Given the description of an element on the screen output the (x, y) to click on. 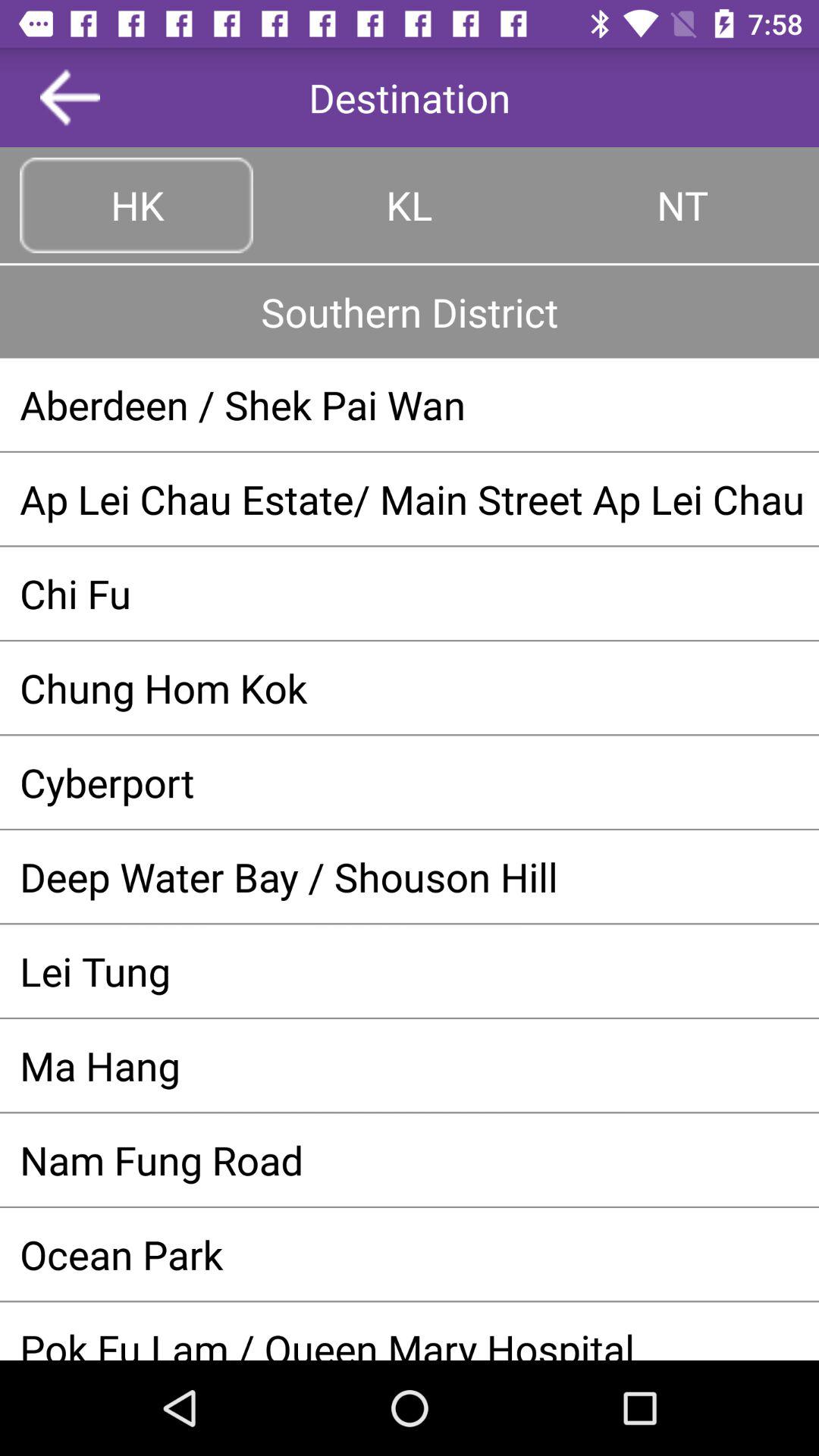
turn on nt (682, 205)
